Given the description of an element on the screen output the (x, y) to click on. 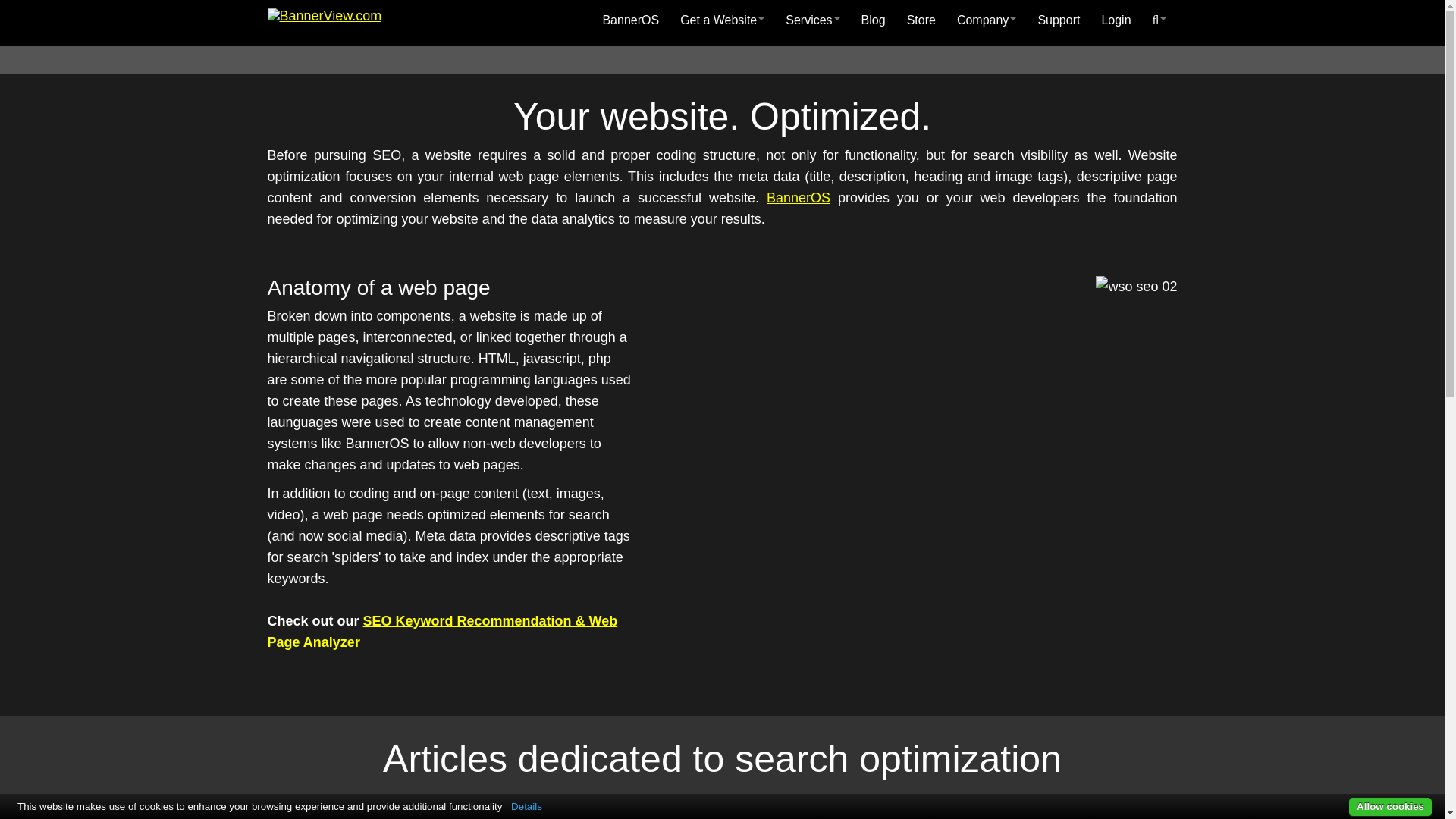
BannerOS (630, 20)
Store (921, 20)
Blog (873, 20)
Company (986, 20)
Support (1058, 20)
Services (812, 20)
Get a Website (721, 20)
BannerOS (798, 197)
Login (1115, 20)
